Given the description of an element on the screen output the (x, y) to click on. 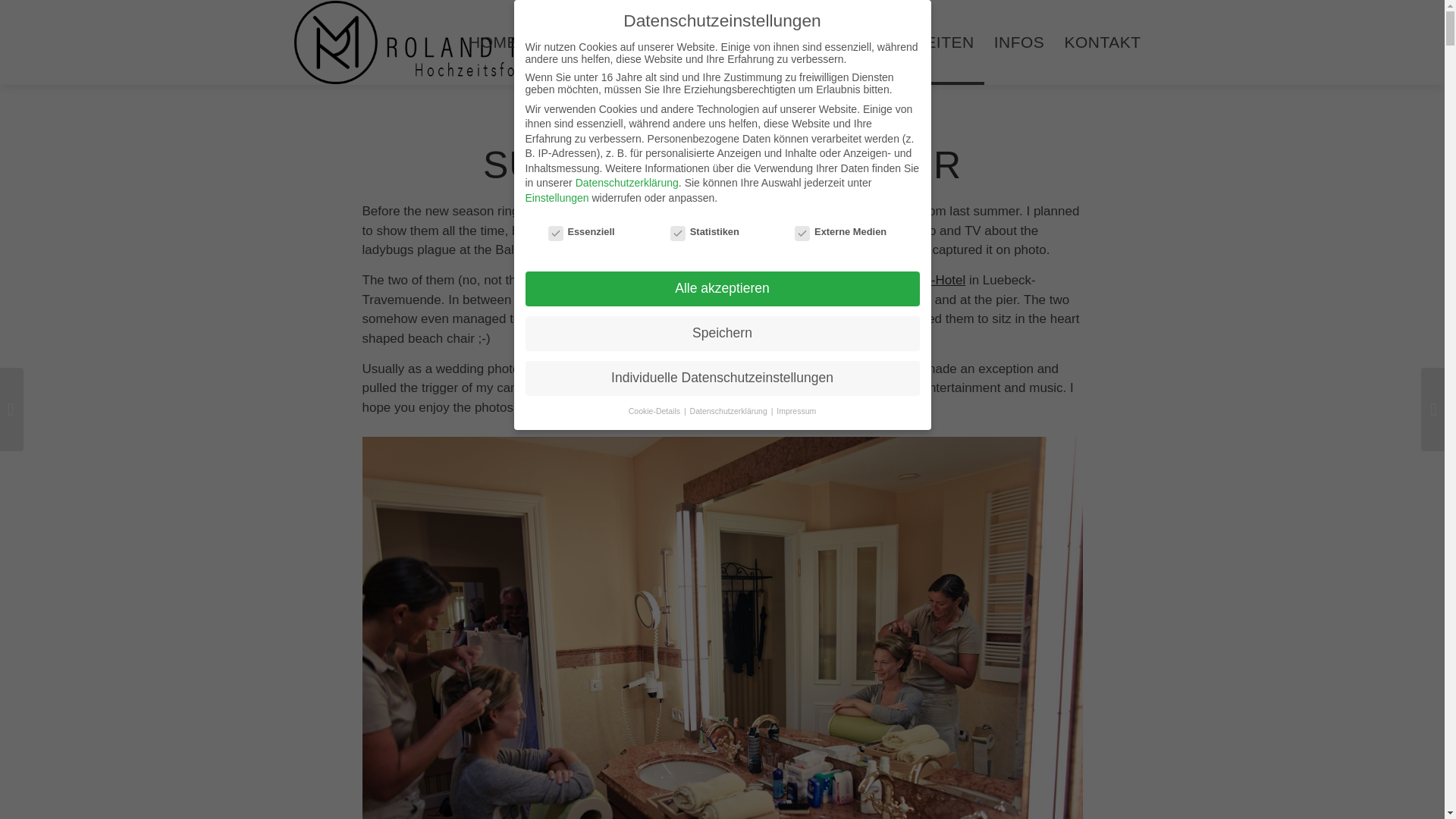
DJ-Service Hamburg (743, 387)
Colombia-Hotel (920, 279)
GALERIE (573, 42)
HOCHZEITEN (920, 42)
INFOS (1019, 42)
HOME (492, 42)
Permanenter Link zu: Sun, Beach and Water (721, 165)
LEISTUNGEN (682, 42)
SUN, BEACH AND WATER (721, 165)
KONTAKT (1102, 42)
